Given the description of an element on the screen output the (x, y) to click on. 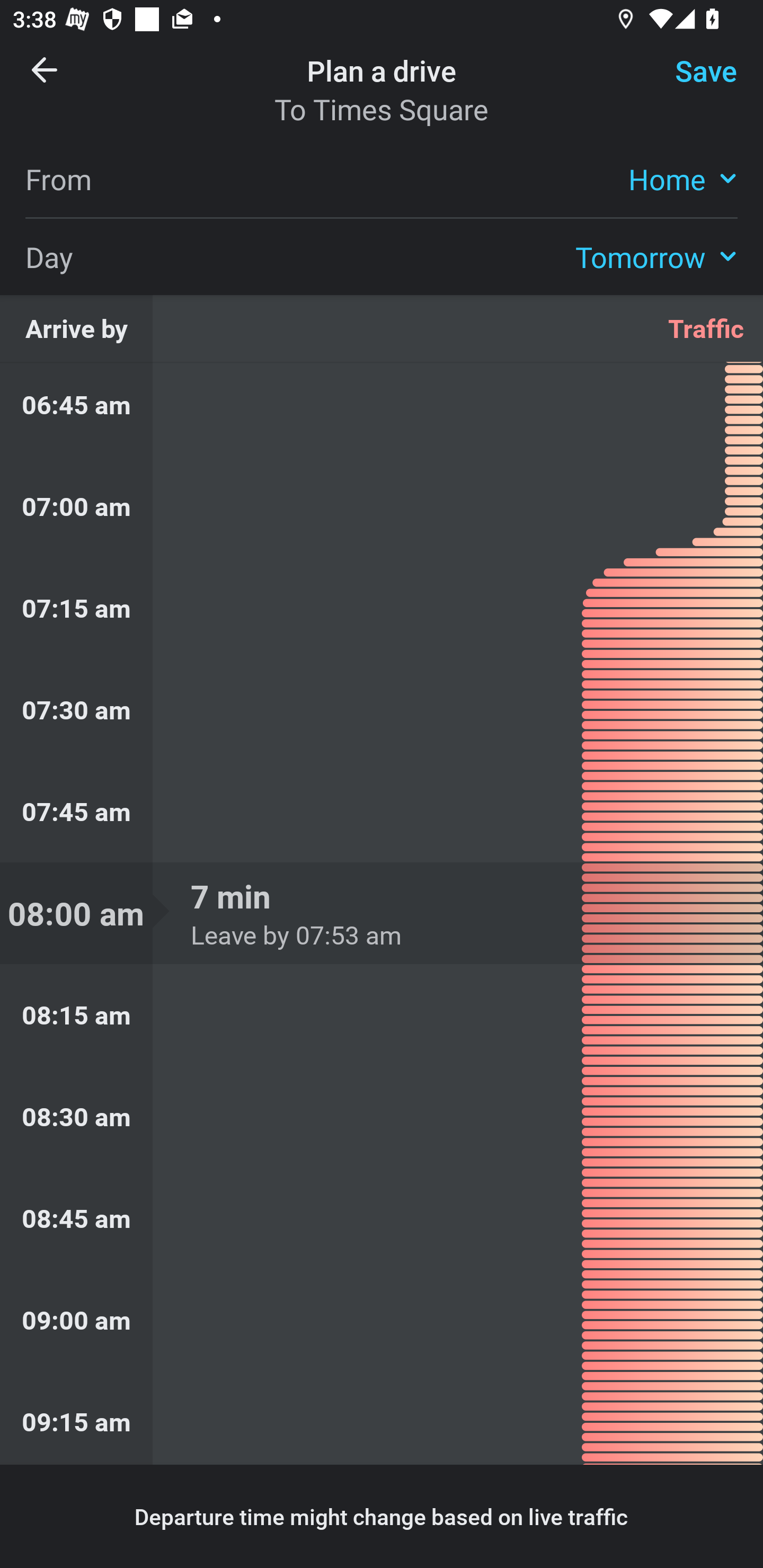
Settings (690, 82)
Home (682, 178)
Tomorrow (656, 255)
06:45 am (381, 409)
07:00 am (381, 506)
07:15 am (381, 607)
07:30 am (381, 709)
07:45 am (381, 811)
08:00 am 7 min Leave by 07:53 am (381, 913)
08:15 am (381, 1015)
08:30 am (381, 1117)
08:45 am (381, 1218)
09:00 am (381, 1319)
09:15 am (381, 1417)
